Given the description of an element on the screen output the (x, y) to click on. 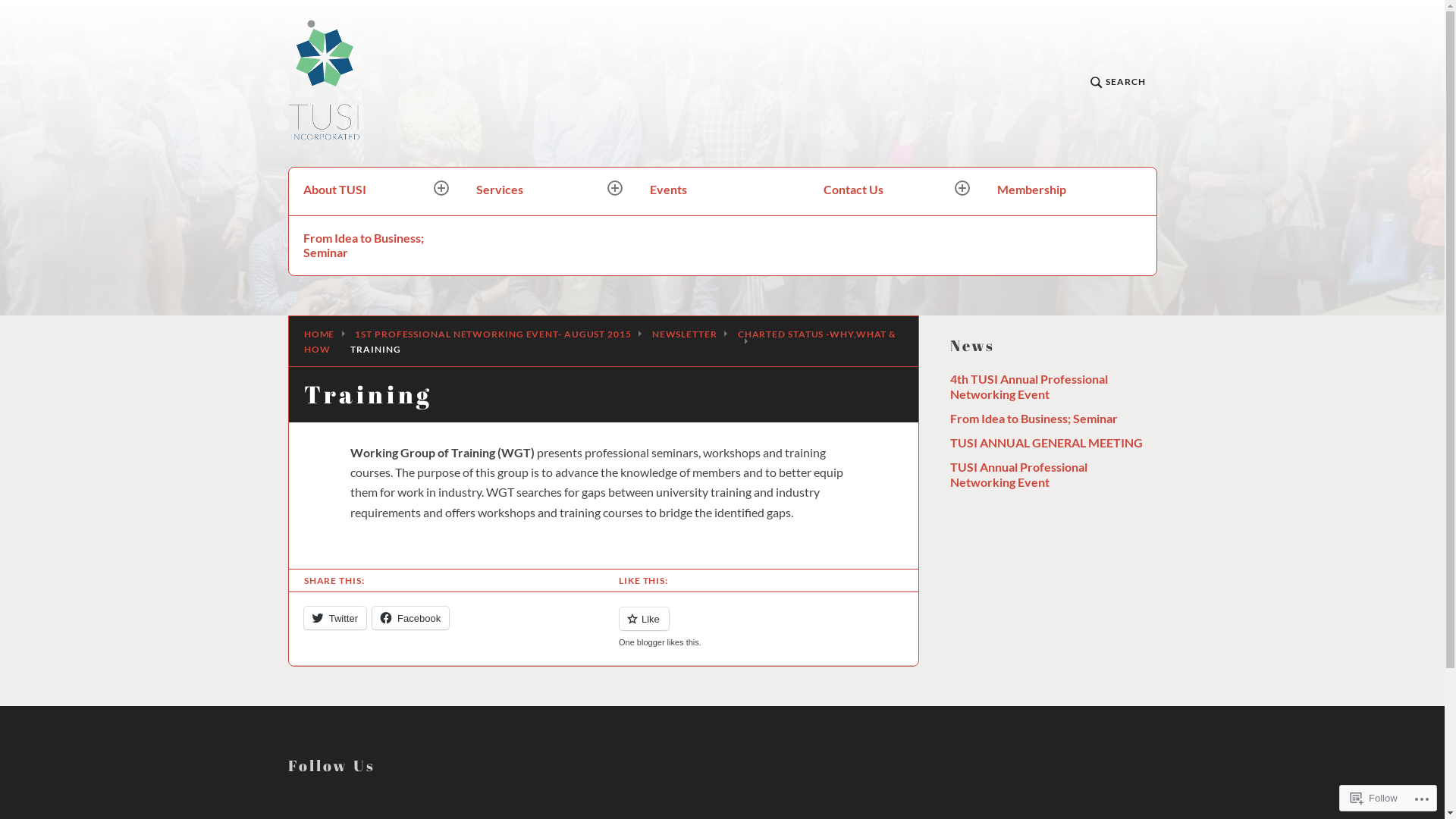
Services Element type: text (548, 191)
NEWSLETTER Element type: text (684, 333)
4th TUSI Annual Professional Networking Event Element type: text (1028, 386)
Follow Element type: text (1373, 797)
Facebook Element type: text (410, 617)
SEARCH Element type: text (1117, 83)
About TUSI Element type: text (375, 191)
Twitter Element type: text (335, 617)
CHARTED STATUS -WHY,WHAT & HOW Element type: text (600, 341)
TUSI Annual Professional Networking Event Element type: text (1017, 474)
Membership Element type: text (1069, 191)
Events Element type: text (721, 191)
TUSI ANNUAL GENERAL MEETING Element type: text (1045, 442)
HOME Element type: text (319, 333)
Contact Us Element type: text (895, 191)
Like or Reblog Element type: hover (760, 627)
From Idea to Business; Seminar Element type: text (1033, 418)
Search Element type: text (340, 187)
From Idea to Business; Seminar Element type: text (375, 245)
1ST PROFESSIONAL NETWORKING EVENT- AUGUST 2015 Element type: text (492, 333)
